Given the description of an element on the screen output the (x, y) to click on. 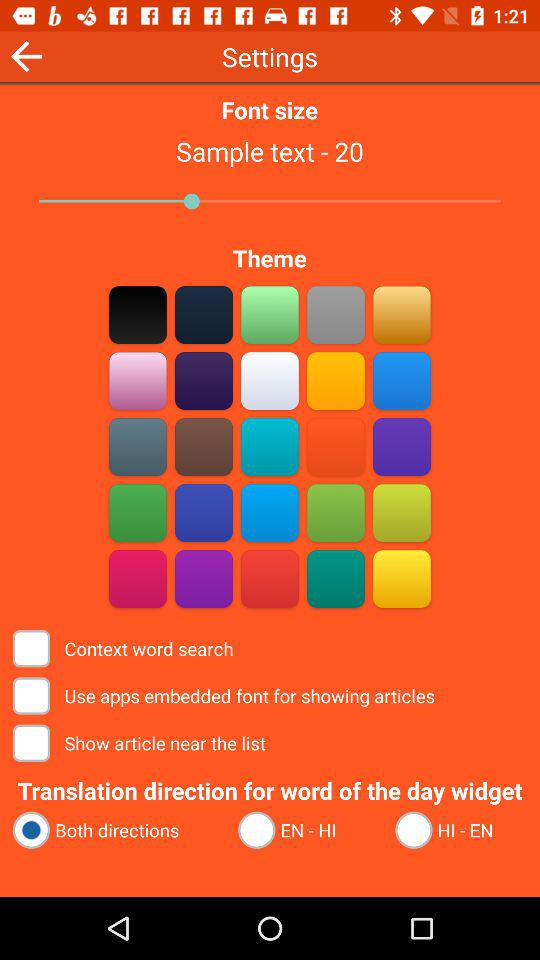
open the item below context word search item (225, 695)
